Given the description of an element on the screen output the (x, y) to click on. 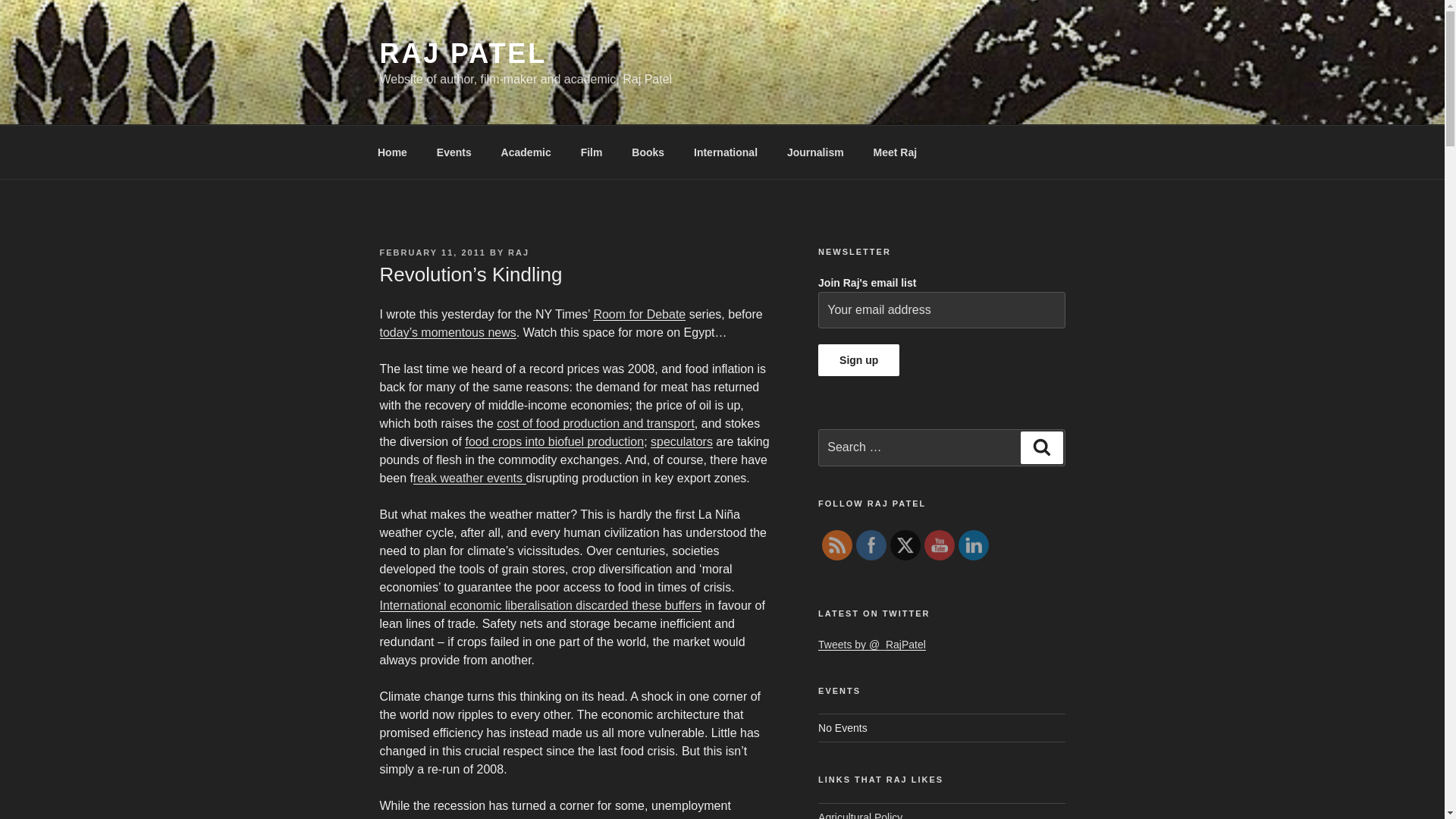
Academic (525, 151)
cost of food production and transport (595, 422)
Sign up (858, 359)
Journalism (815, 151)
FEBRUARY 11, 2011 (431, 252)
Room for Debate (638, 314)
food crops into biofuel production (553, 440)
speculators (681, 440)
International (726, 151)
Meet Raj (895, 151)
Sign up (858, 359)
Books (648, 151)
Facebook (871, 545)
